Given the description of an element on the screen output the (x, y) to click on. 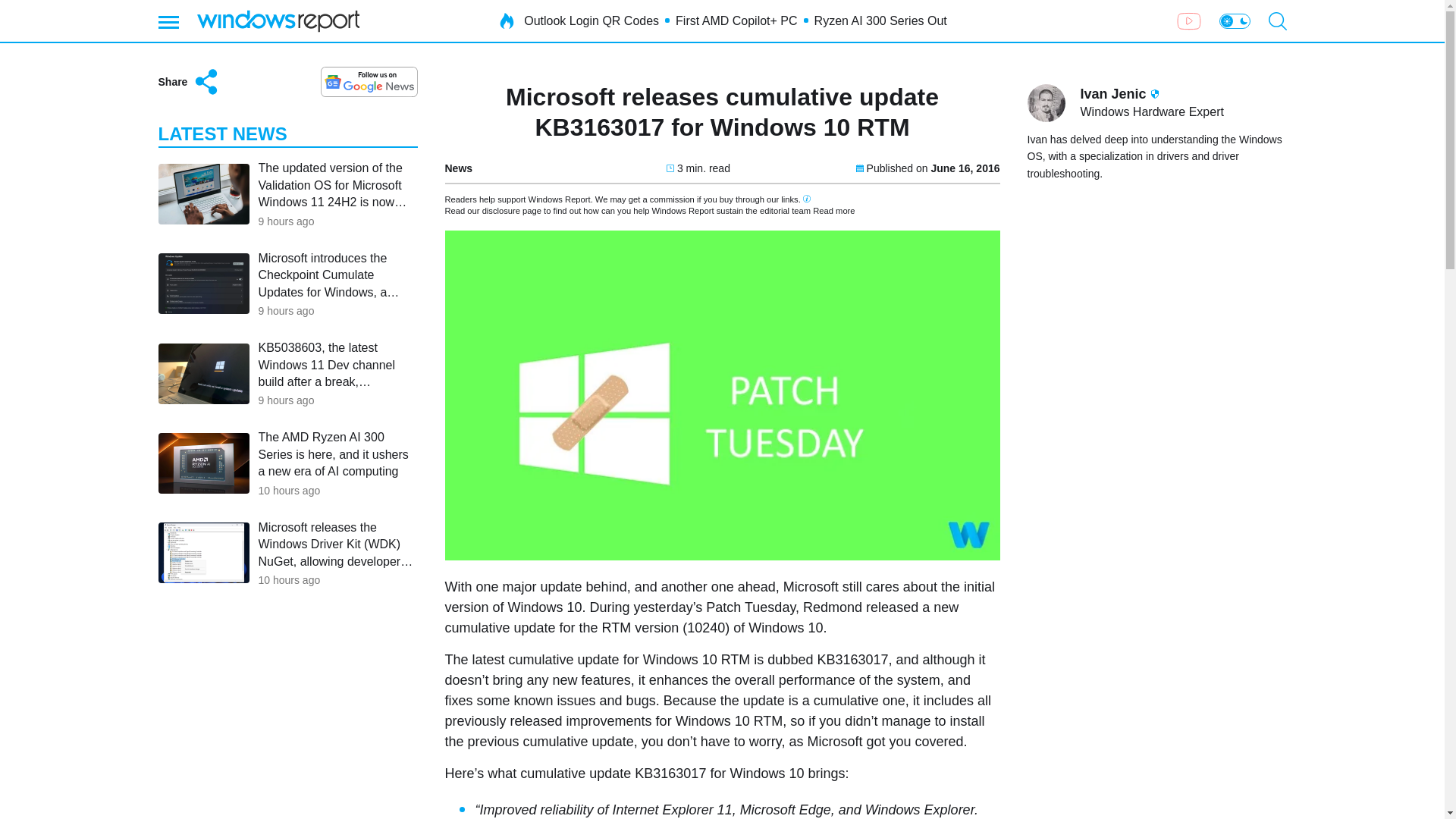
Outlook Login QR Codes (591, 21)
Open search bar (1276, 21)
Ryzen AI 300 Series Out (880, 21)
Share this article (189, 81)
Share (189, 81)
News (457, 168)
